Given the description of an element on the screen output the (x, y) to click on. 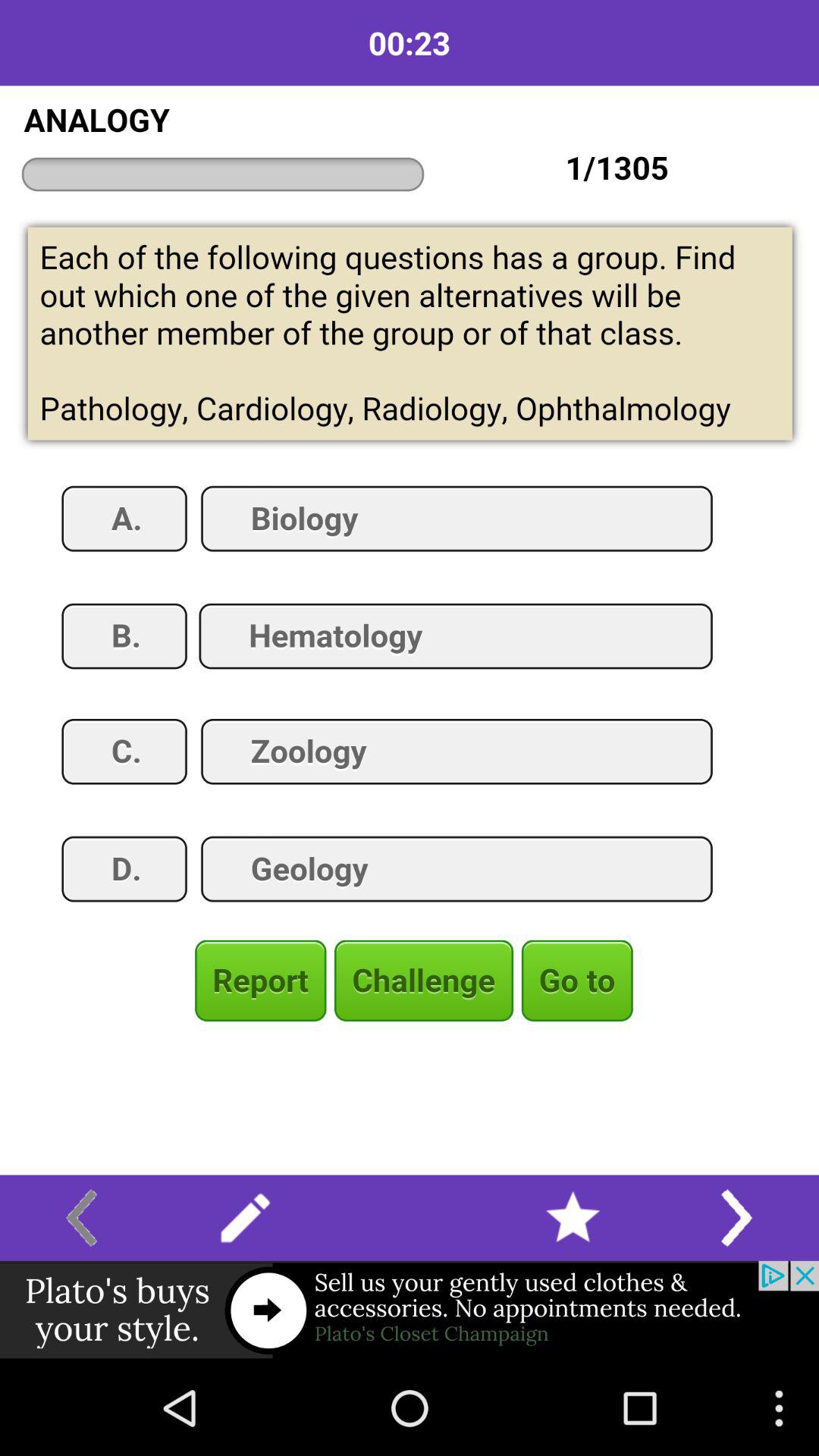
go back (81, 1217)
